Given the description of an element on the screen output the (x, y) to click on. 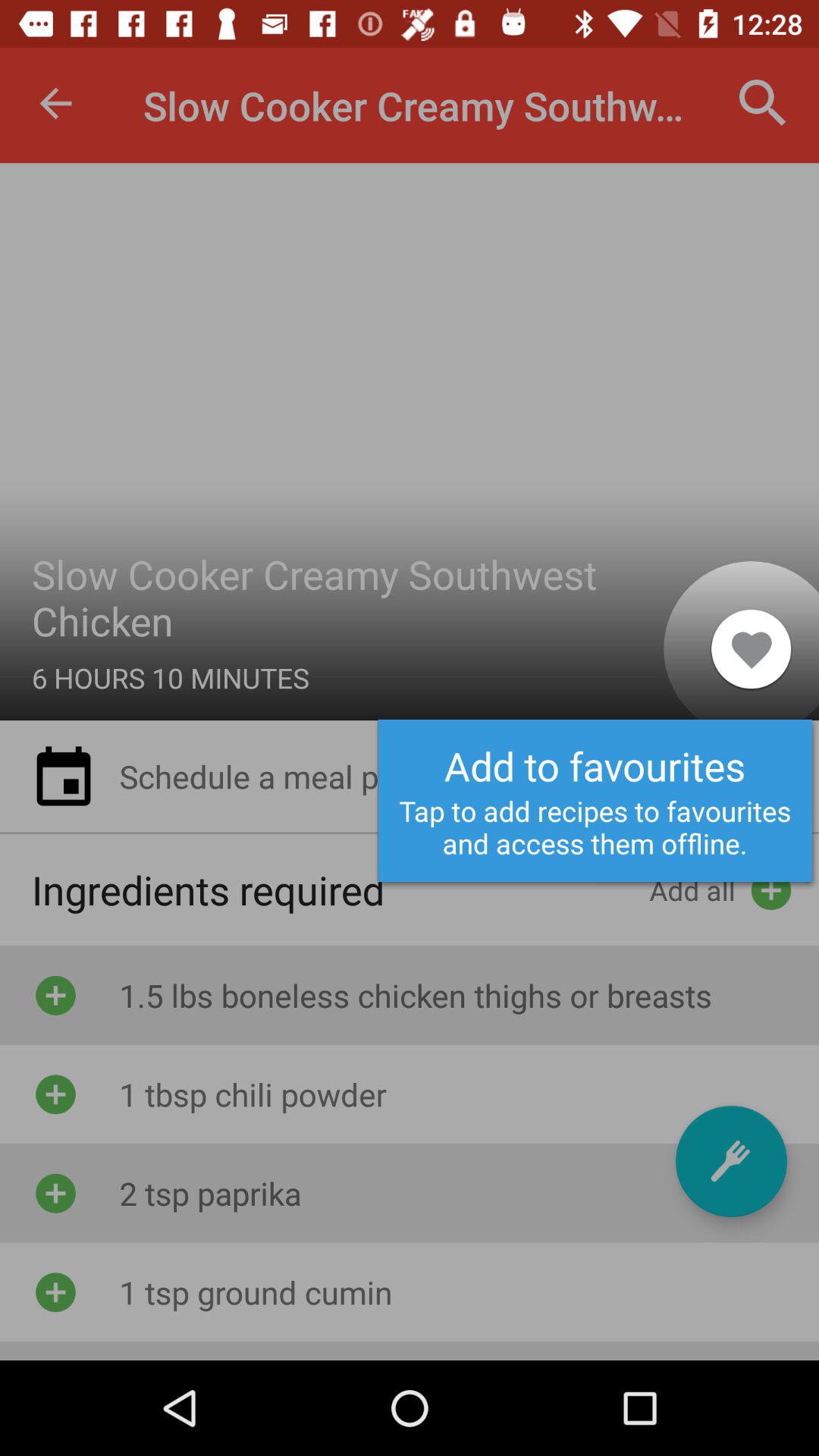
add a recipe (731, 1161)
